Given the description of an element on the screen output the (x, y) to click on. 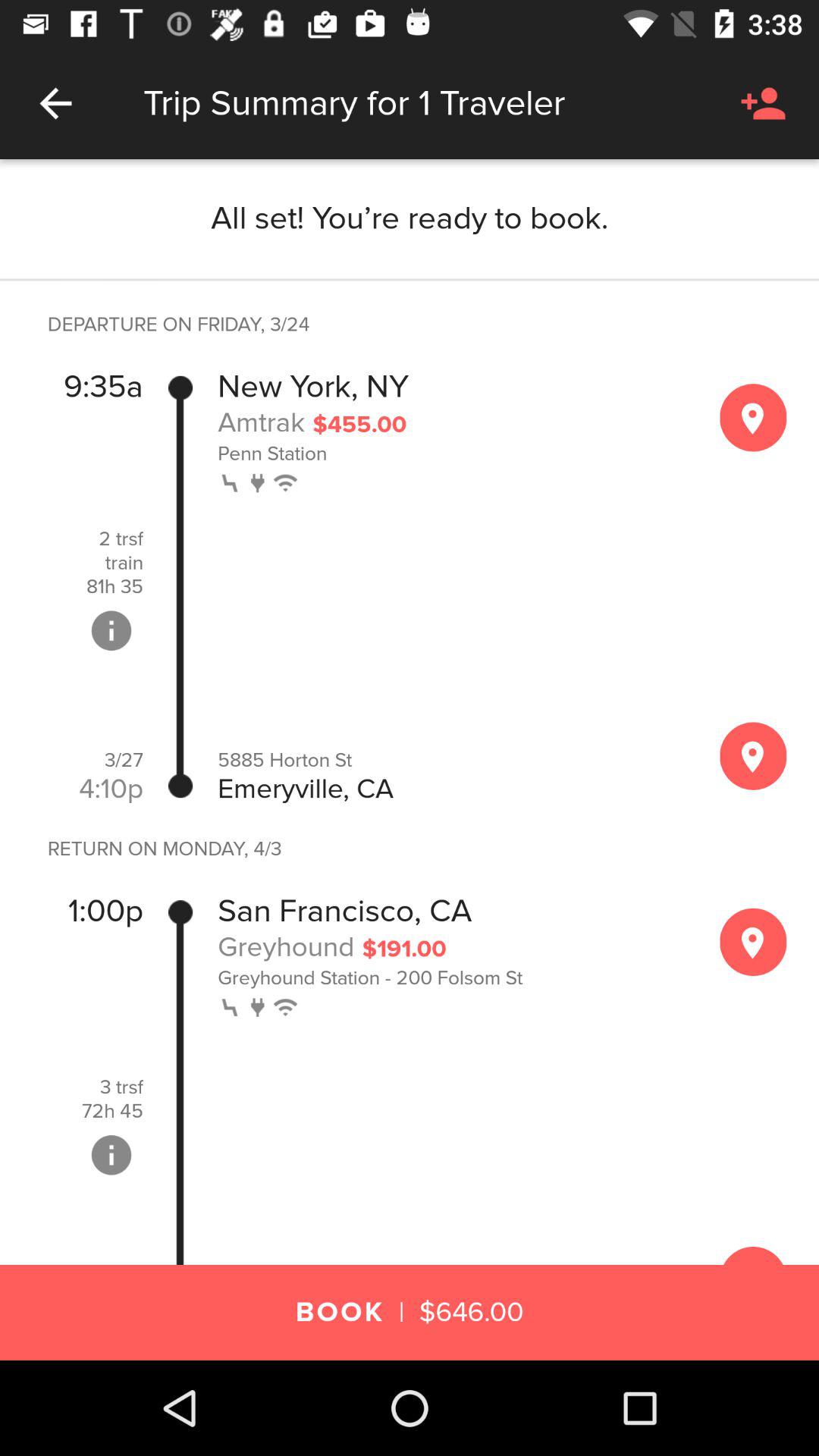
open the icon below the new york, ny icon (260, 421)
